Given the description of an element on the screen output the (x, y) to click on. 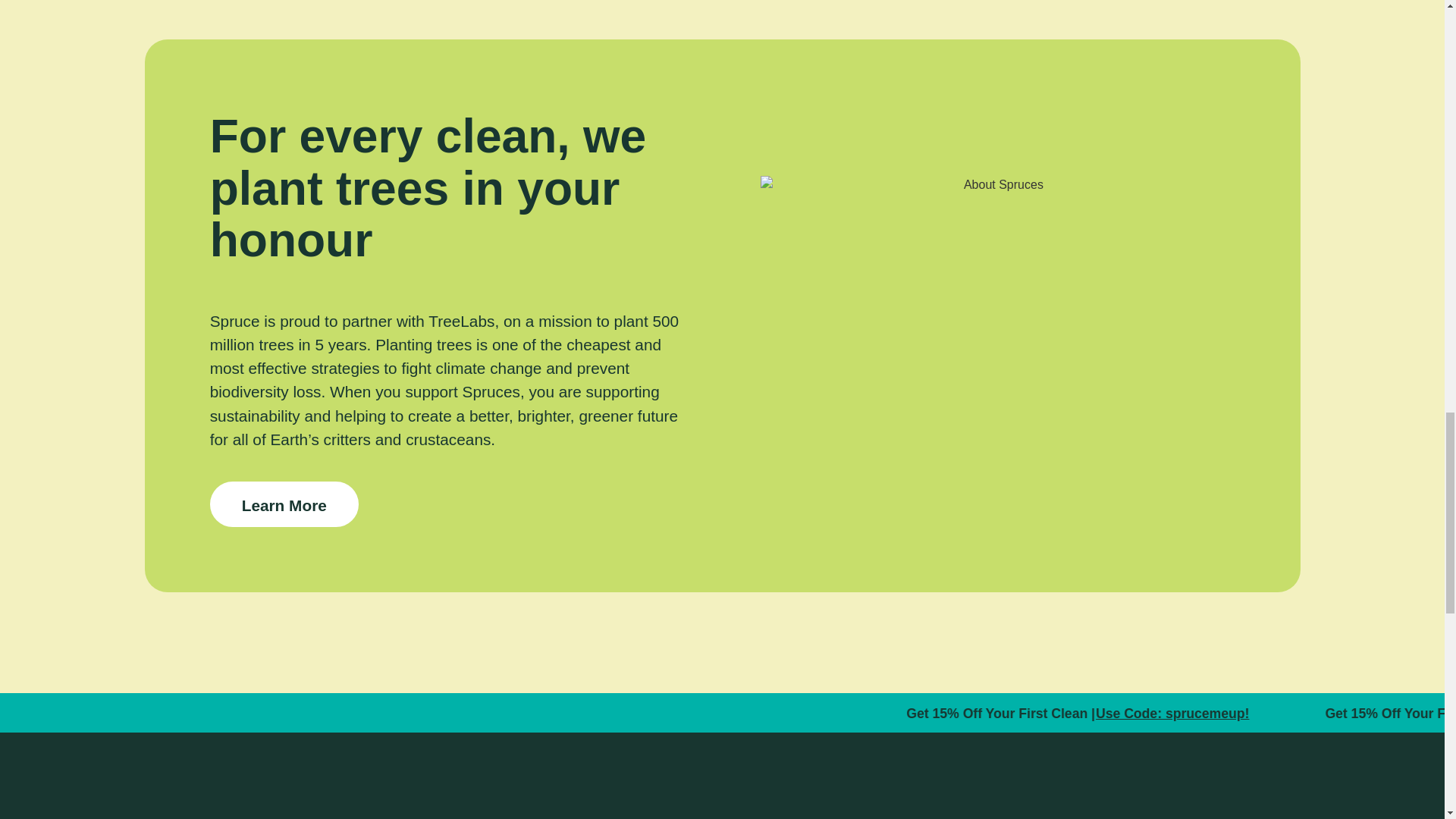
Learn More (283, 504)
